Given the description of an element on the screen output the (x, y) to click on. 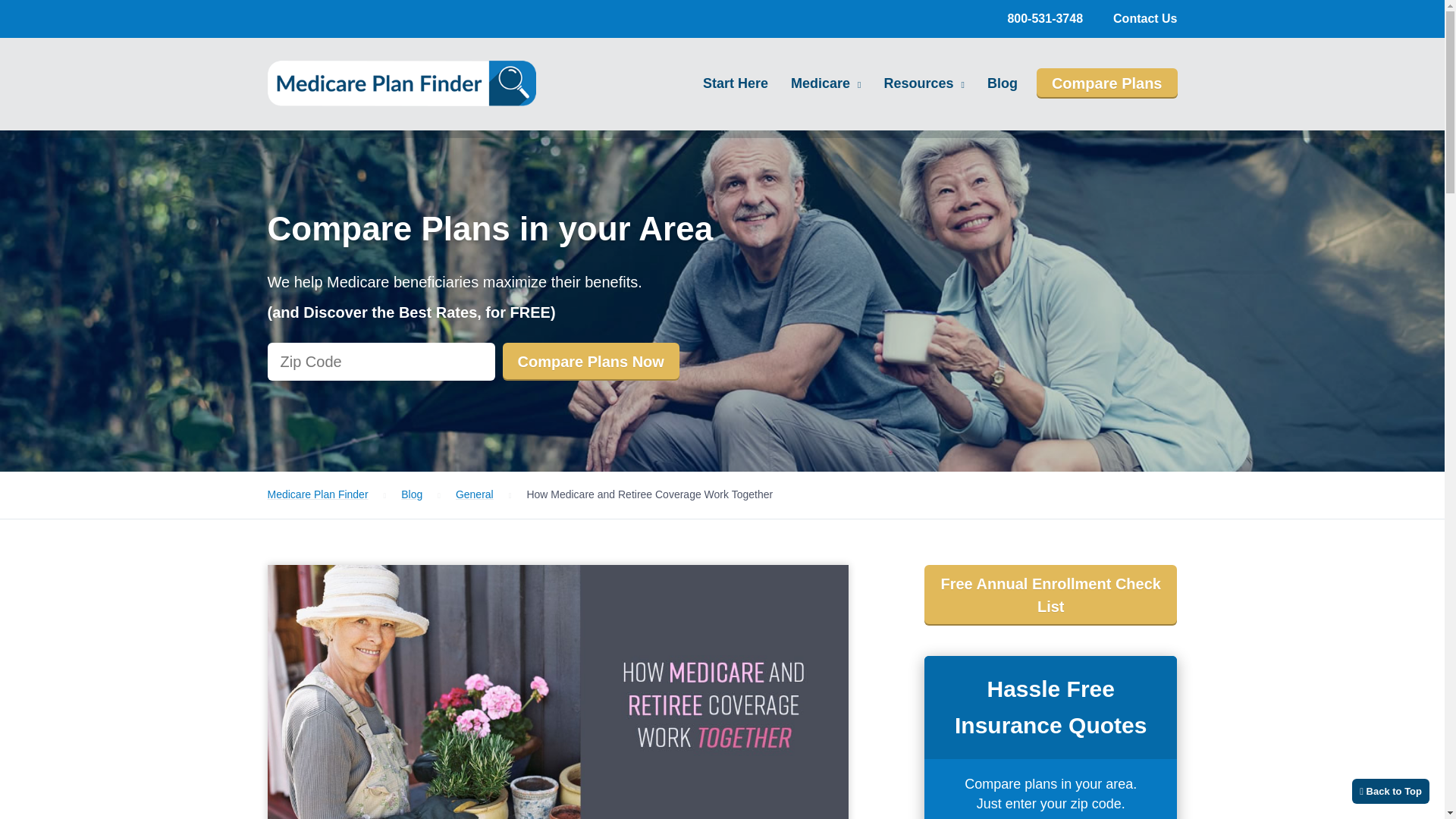
Medicare (825, 83)
Go to Medicare Plan Finder. (317, 494)
Contact Us (1144, 18)
Resources (923, 83)
Go to the General category archives. (474, 494)
800-531-3748 (1045, 18)
Compare Plans Now (590, 361)
Start Here (734, 82)
Go to Blog. (411, 494)
Compare Plans Now (590, 361)
Blog (1003, 82)
Compare Plans (1106, 82)
